Given the description of an element on the screen output the (x, y) to click on. 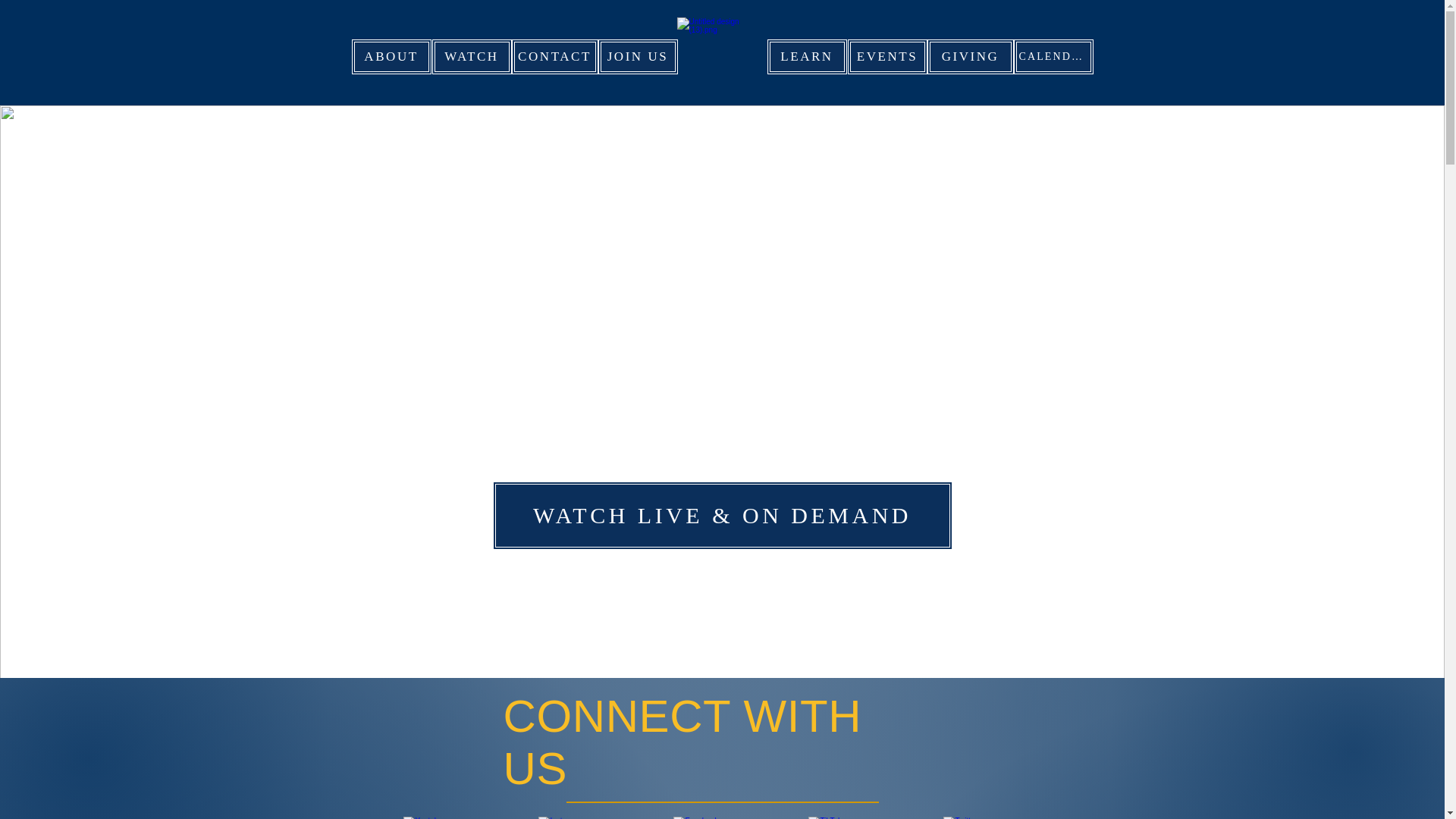
LEARN (807, 56)
EVENTS (887, 56)
JOIN US (636, 56)
CONTACT (553, 56)
WATCH (472, 56)
CALENDAR (1053, 56)
ABOUT (391, 56)
GIVING (969, 56)
